Given the description of an element on the screen output the (x, y) to click on. 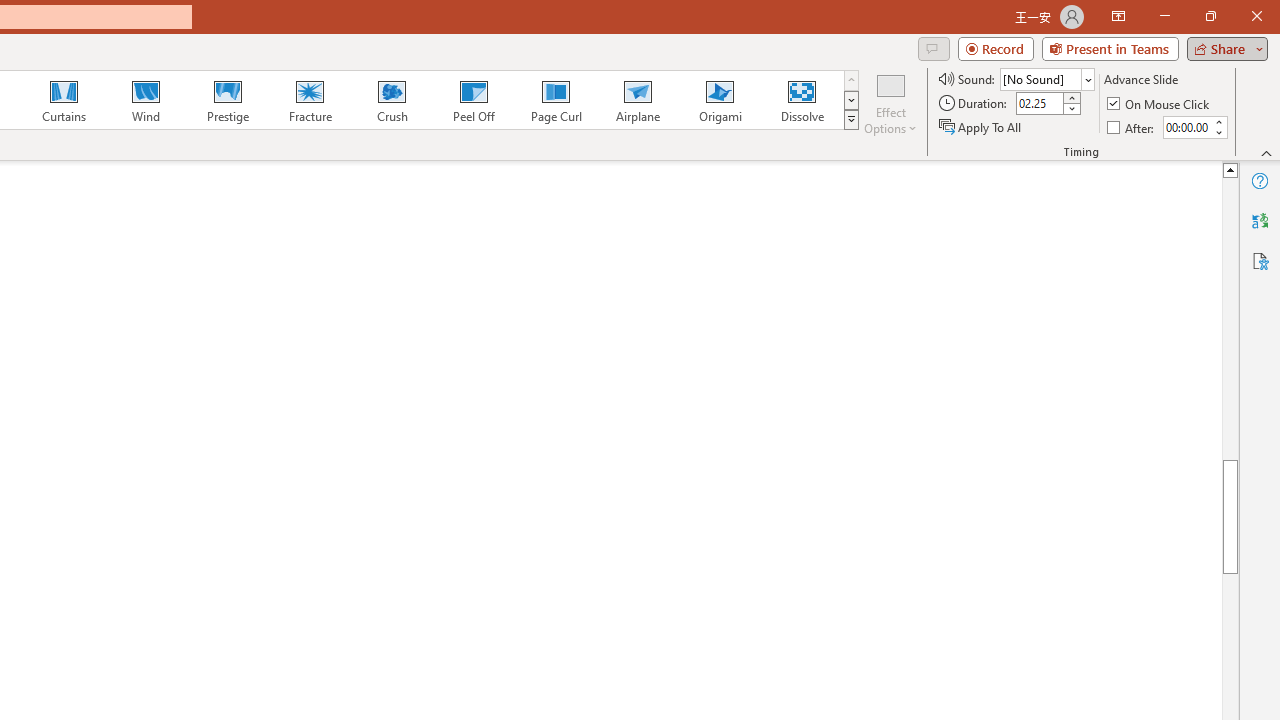
Page Curl (555, 100)
Airplane (637, 100)
